Given the description of an element on the screen output the (x, y) to click on. 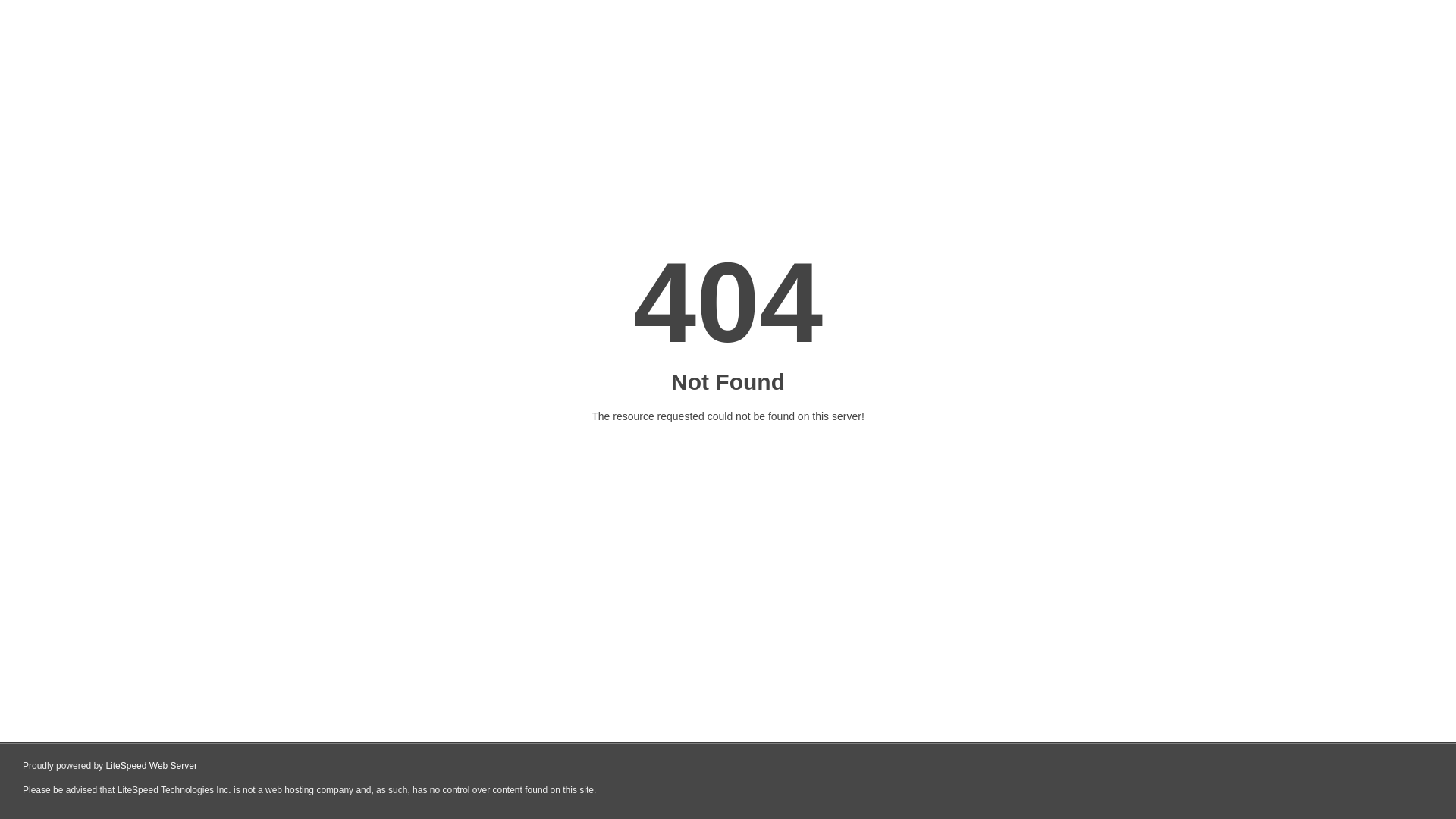
LiteSpeed Web Server Element type: text (151, 765)
